Given the description of an element on the screen output the (x, y) to click on. 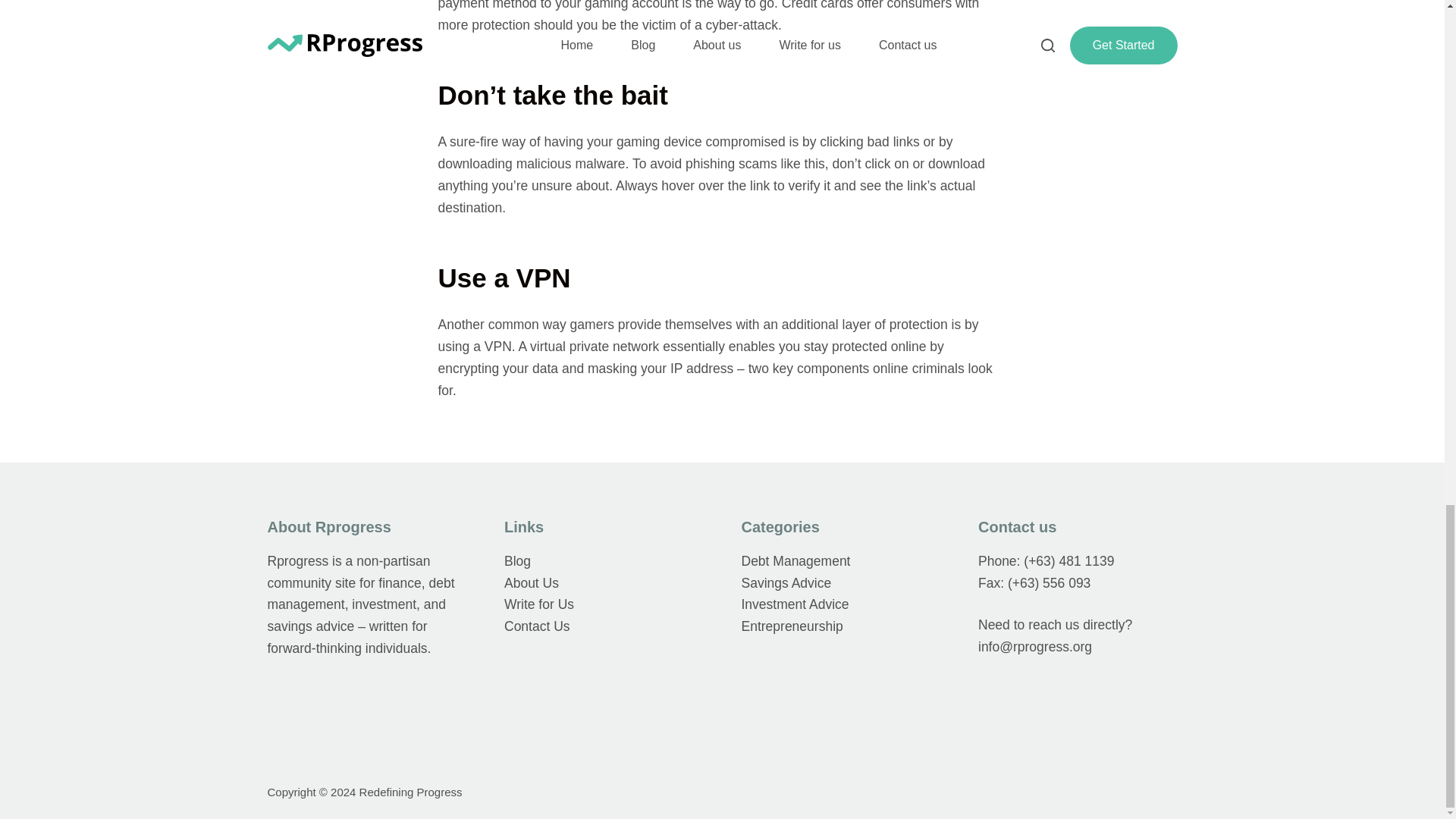
Debt Management (795, 560)
Write for Us (538, 604)
Blog (517, 560)
About Us (531, 582)
Savings Advice (786, 582)
Contact Us (536, 626)
